Given the description of an element on the screen output the (x, y) to click on. 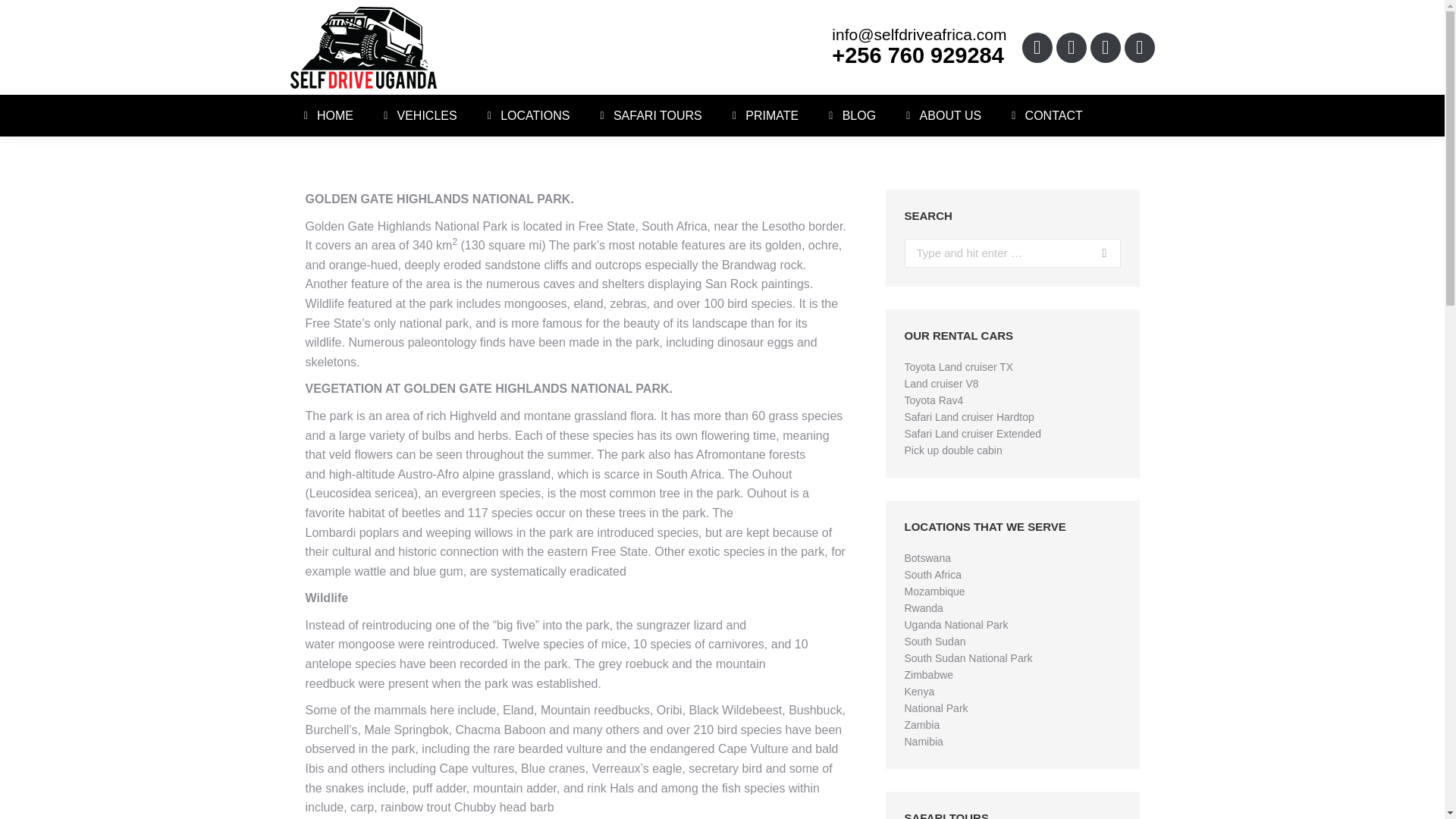
Linkedin page opens in new window (1105, 46)
HOME (325, 115)
Facebook page opens in new window (1037, 46)
Go! (1098, 253)
Go! (1098, 253)
Twitter page opens in new window (1071, 46)
Linkedin page opens in new window (1105, 46)
LOCATIONS (526, 115)
VEHICLES (417, 115)
Rss page opens in new window (1139, 46)
Twitter page opens in new window (1071, 46)
Facebook page opens in new window (1037, 46)
Rss page opens in new window (1139, 46)
